Given the description of an element on the screen output the (x, y) to click on. 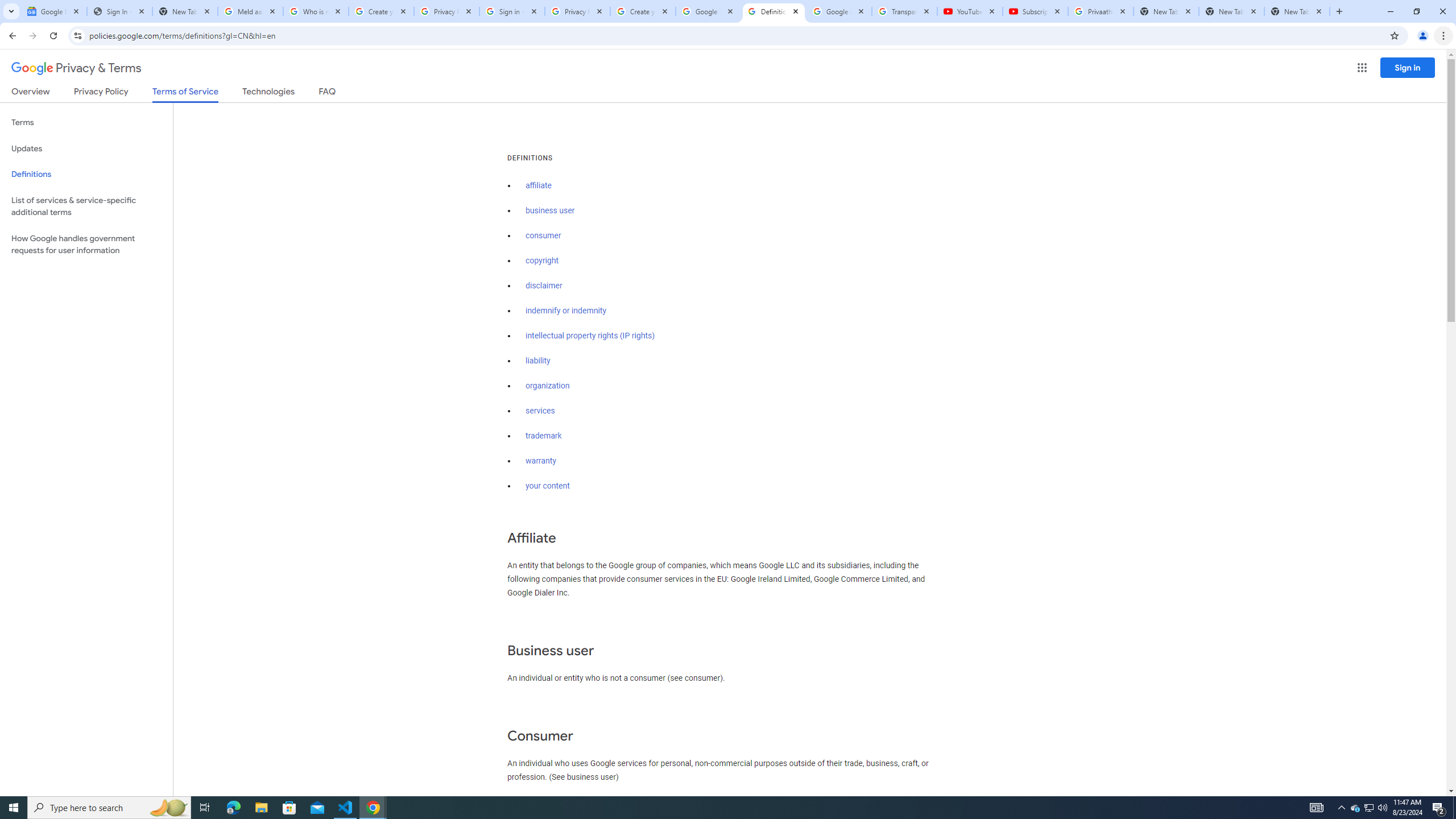
Sign In - USA TODAY (119, 11)
Sign in - Google Accounts (512, 11)
Google Account (838, 11)
copyright (542, 260)
Who is my administrator? - Google Account Help (315, 11)
Create your Google Account (381, 11)
New Tab (1297, 11)
